Given the description of an element on the screen output the (x, y) to click on. 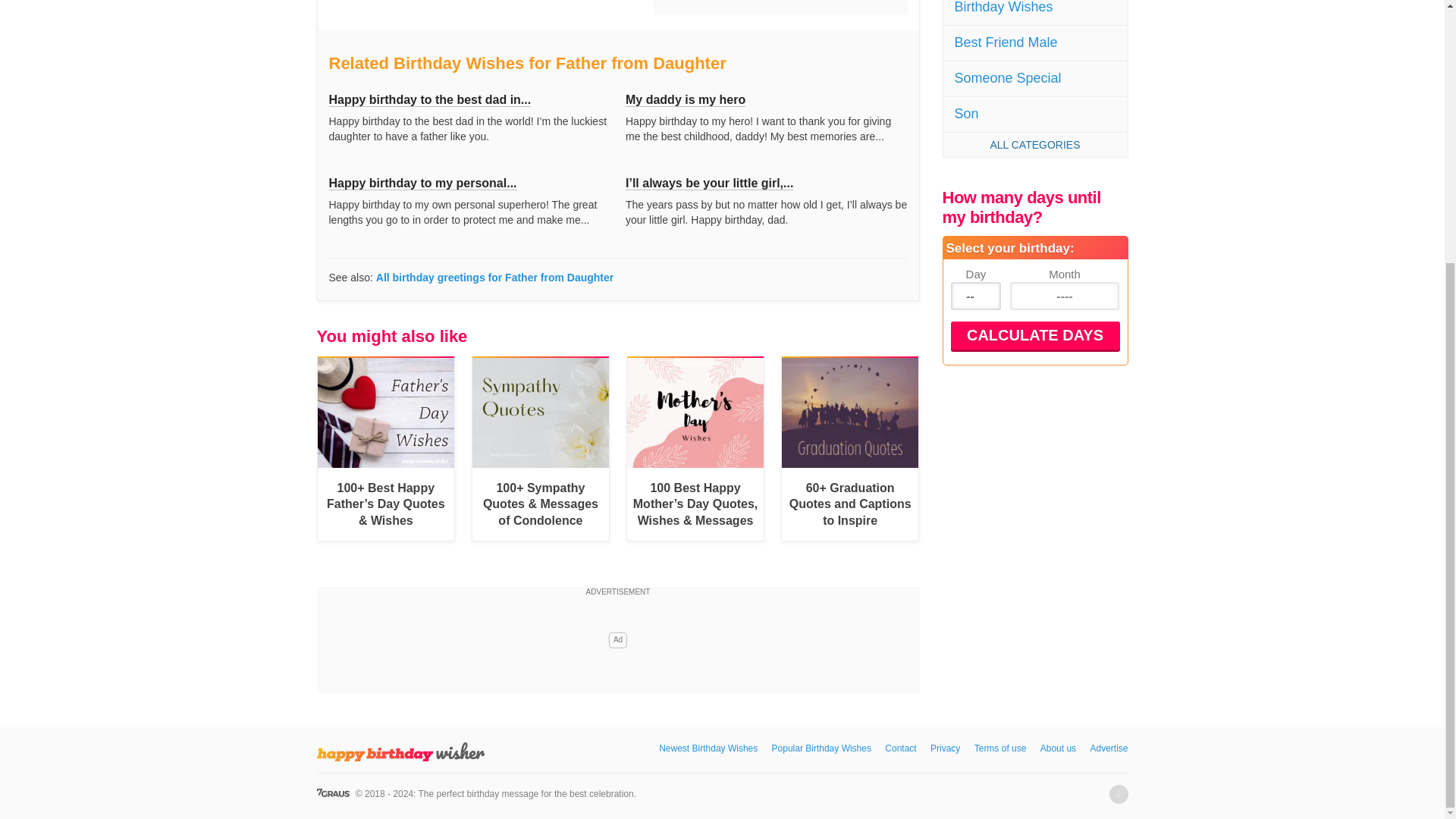
Calculate Days (1034, 335)
All birthday greetings for Father from Daughter (493, 277)
My daddy is my hero (685, 100)
Happy birthday to my personal... (422, 183)
RSS do Happy Birthday Wisher (1117, 793)
Happy birthday to the best dad in... (430, 100)
